Given the description of an element on the screen output the (x, y) to click on. 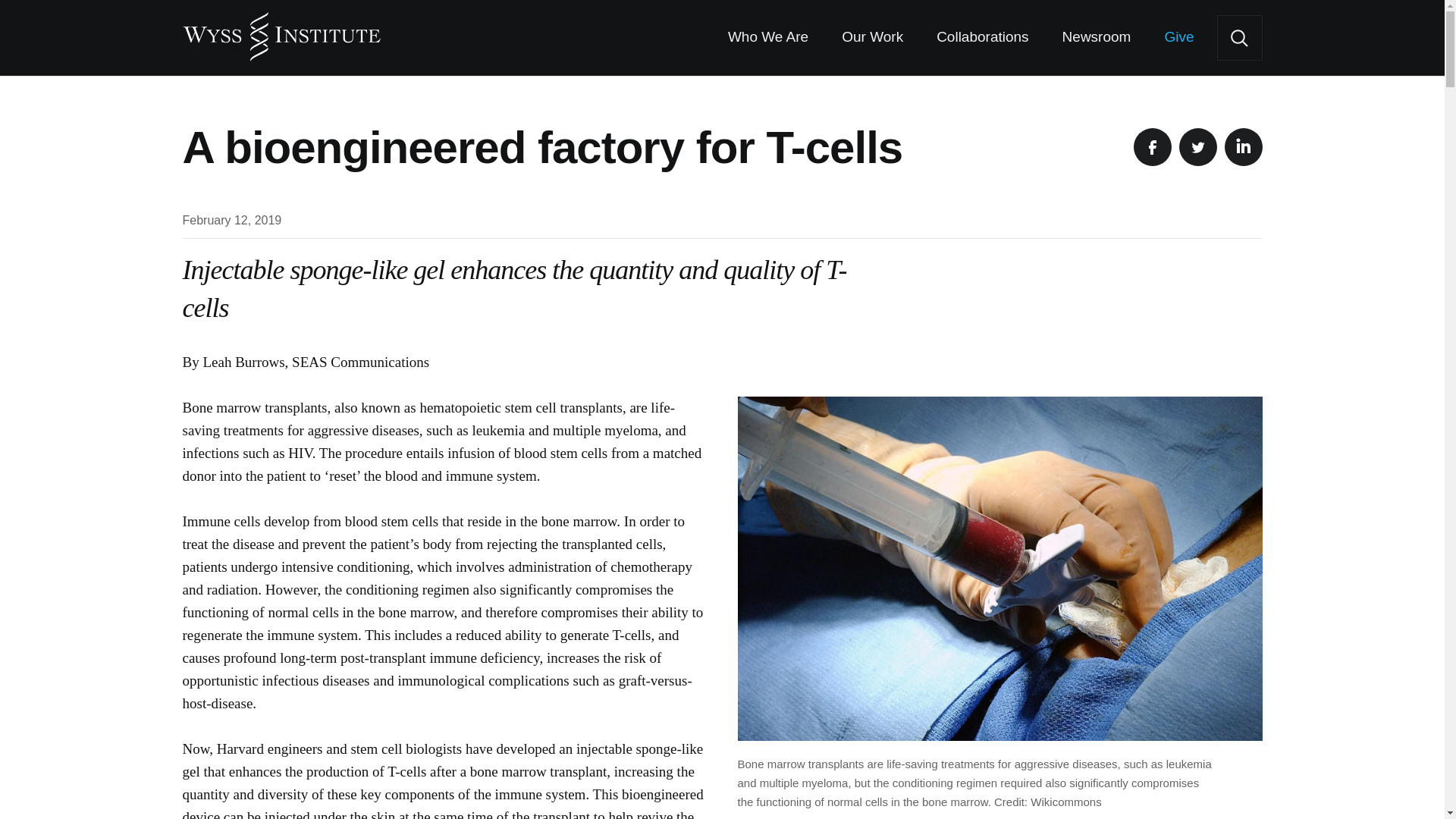
Who We Are (768, 38)
Search Site (1238, 37)
Our Work (871, 38)
Collaborations (981, 38)
Newsroom (1096, 38)
Twitter (1196, 146)
Wyss Institute (281, 30)
Facebook (1151, 146)
Linked in (1243, 146)
Give (1178, 38)
Wyss Institute (281, 30)
